Given the description of an element on the screen output the (x, y) to click on. 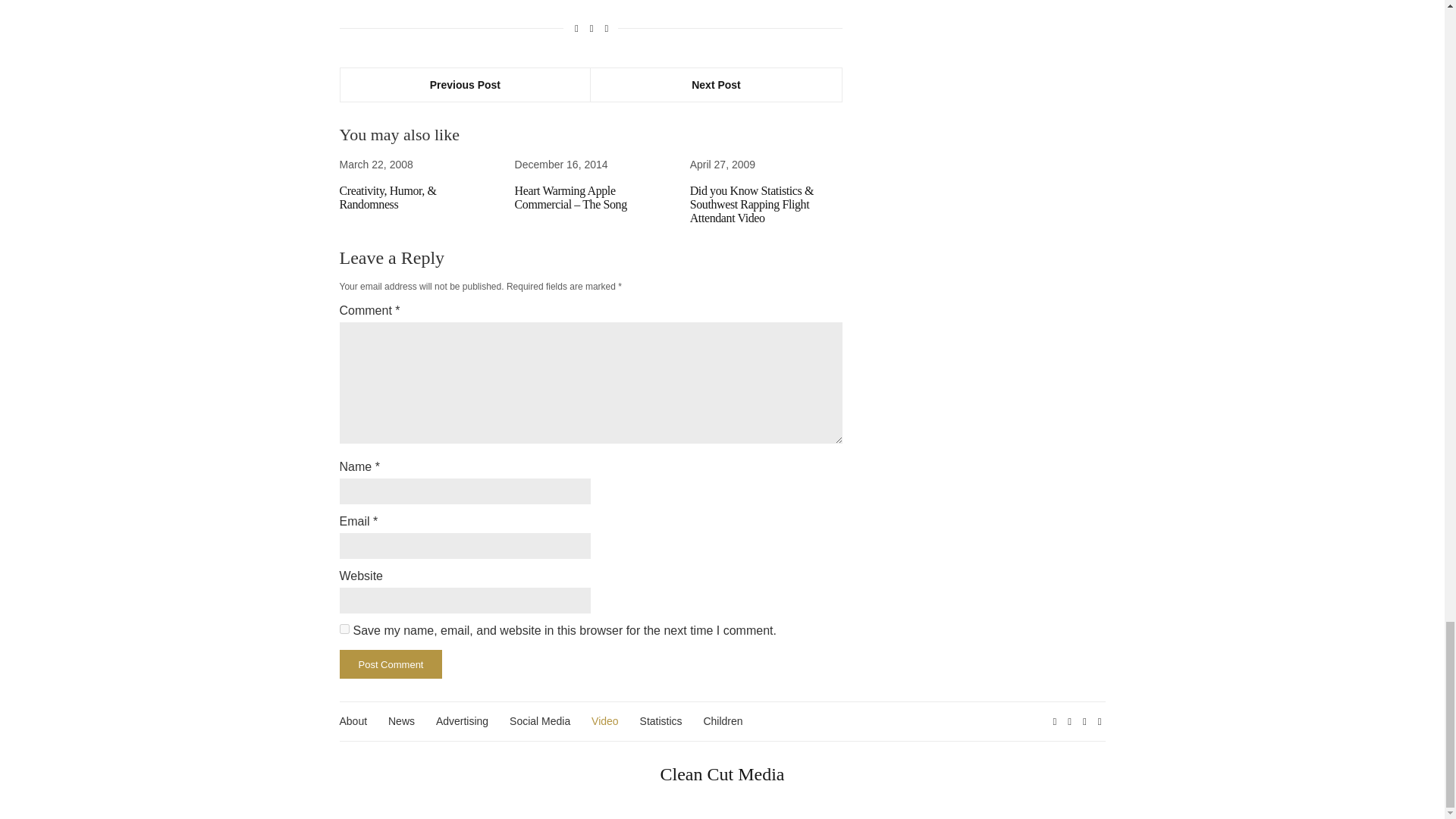
Next Post (716, 84)
yes (344, 628)
Previous Post (465, 84)
Post Comment (390, 664)
Post Comment (390, 664)
